Given the description of an element on the screen output the (x, y) to click on. 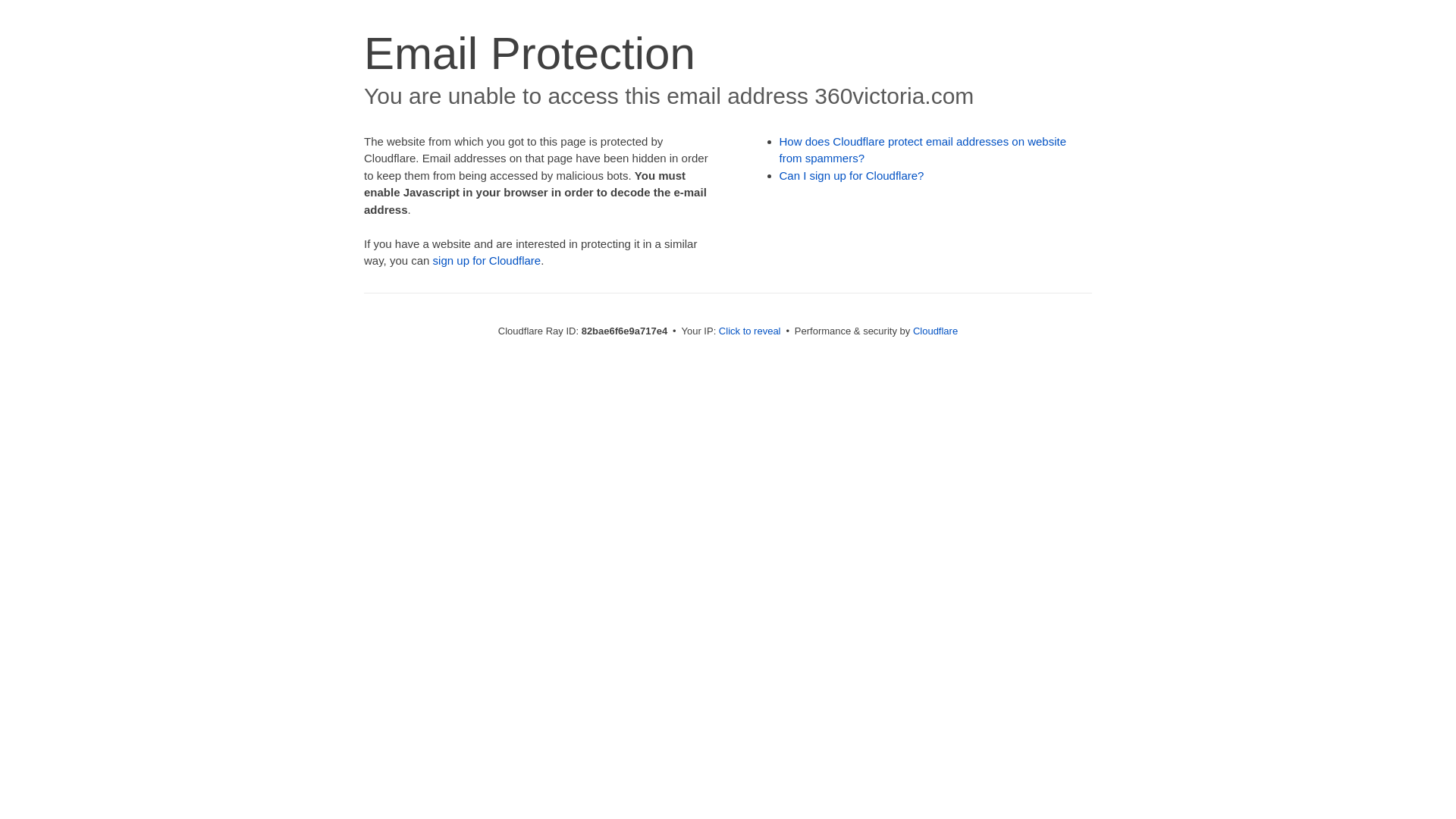
sign up for Cloudflare Element type: text (487, 260)
Cloudflare Element type: text (935, 330)
Can I sign up for Cloudflare? Element type: text (851, 175)
Click to reveal Element type: text (749, 330)
